Given the description of an element on the screen output the (x, y) to click on. 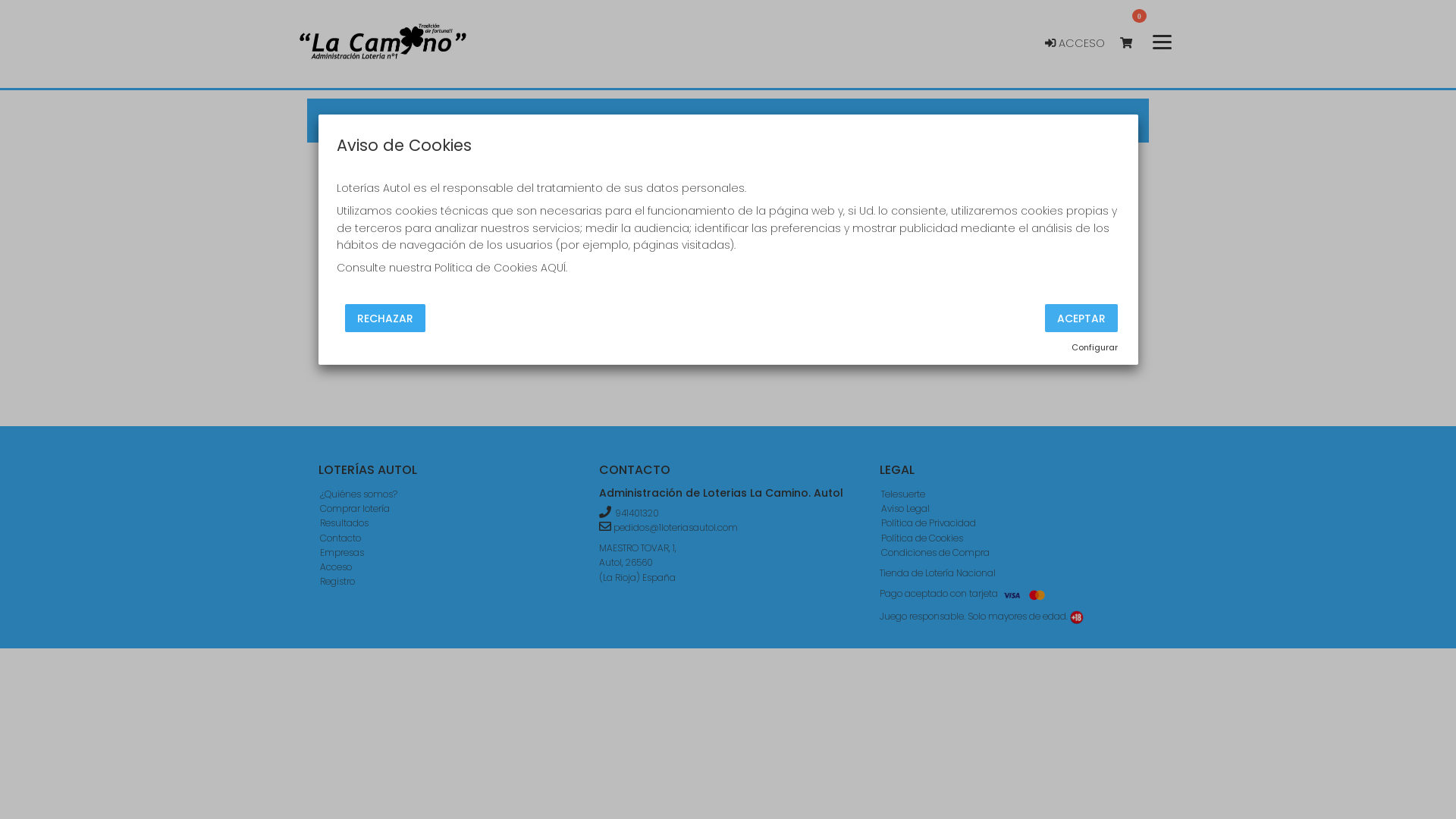
RECHAZAR Element type: text (384, 318)
941401320 Element type: text (636, 512)
Contacto Element type: text (1018, 120)
Configurar Element type: text (1093, 347)
Telesuerte Element type: text (903, 493)
ACEPTAR Element type: text (1080, 318)
Empresas Element type: text (342, 552)
ACCESO Element type: text (1081, 43)
Resultados Element type: text (344, 522)
Juego responsable. Solo mayores de edad. Element type: hover (1076, 617)
Aviso Legal Element type: text (905, 508)
Condiciones de Compra Element type: text (935, 552)
Contacto Element type: text (340, 537)
0 Element type: text (1133, 43)
Acceso Element type: text (335, 566)
Registro Element type: text (337, 580)
Resultados Element type: text (752, 120)
